Given the description of an element on the screen output the (x, y) to click on. 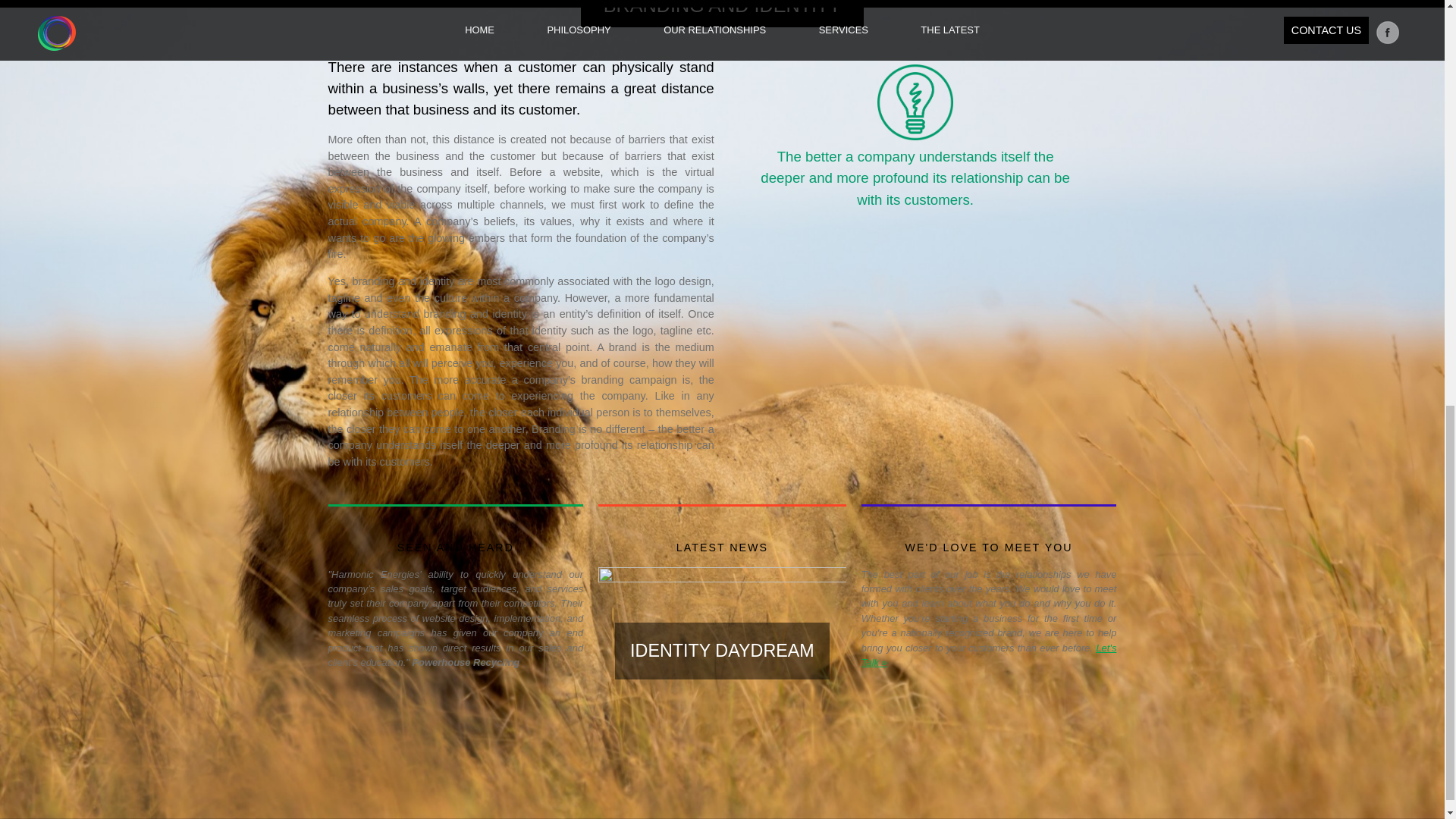
BRANDING AND IDENTITY (895, 757)
THE LATEST (1001, 757)
IDENTITY DAYDREAM (721, 650)
ROI TOOLS (869, 768)
SOCIAL MEDIA (747, 780)
HOME (601, 757)
WEBSITE CREATION (757, 757)
Let's Talk (988, 655)
CONTACT US (1002, 768)
OUR RELATIONSHIPS (630, 768)
EDUCATION (870, 780)
